Given the description of an element on the screen output the (x, y) to click on. 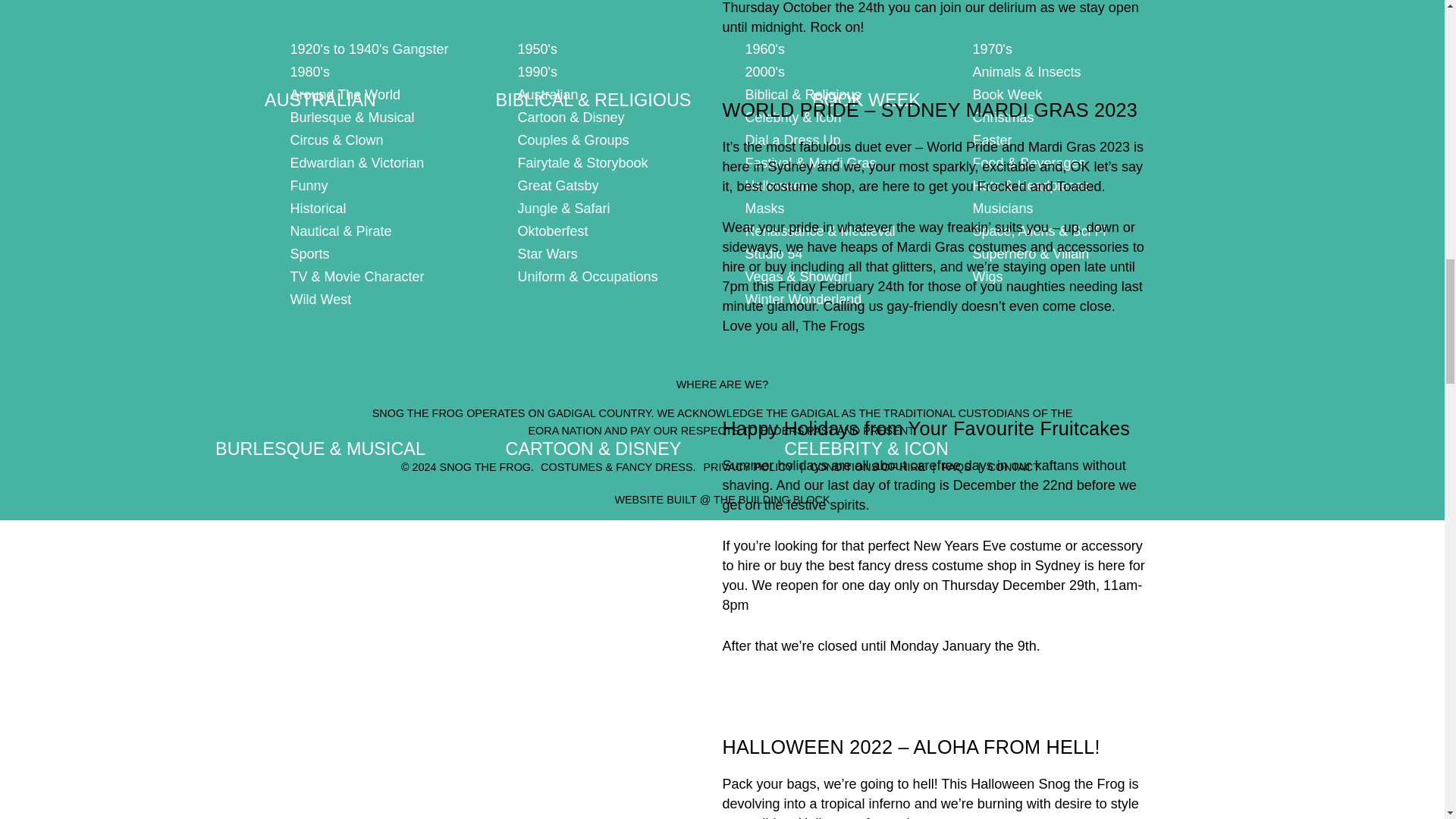
View Australian costumes (320, 60)
BOOK WEEK (866, 60)
View Book Week costumes (866, 60)
AUSTRALIAN (320, 60)
